Given the description of an element on the screen output the (x, y) to click on. 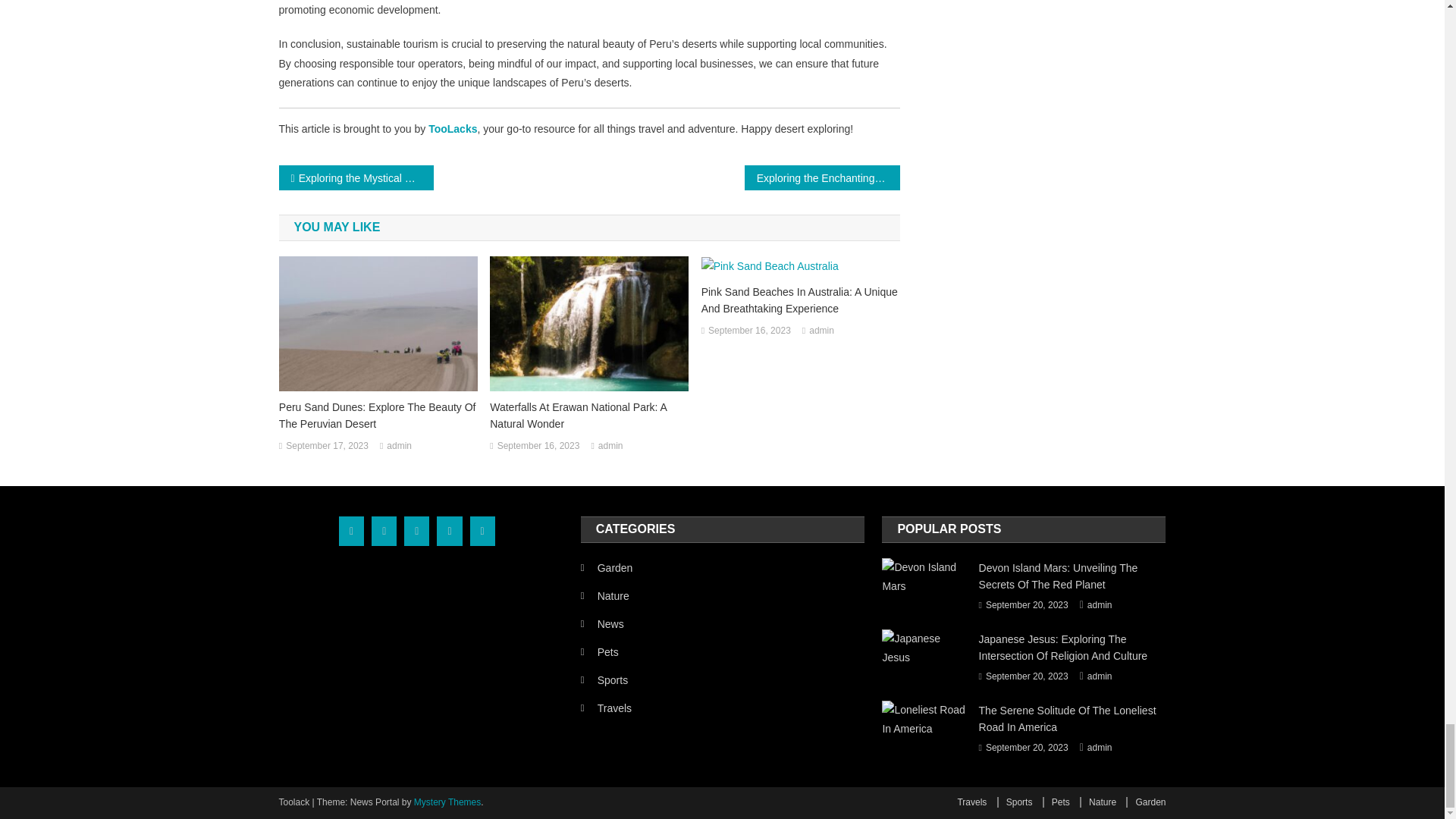
September 17, 2023 (326, 446)
Exploring the Mystical Chestnut Ridge Eternal Flame (356, 177)
Exploring the Enchanting Green Sands Oasis in Hawaii (821, 177)
September 16, 2023 (748, 330)
admin (399, 446)
Waterfalls At Erawan National Park: A Natural Wonder (588, 415)
TooLacks (452, 128)
Peru Sand Dunes: Explore The Beauty Of The Peruvian Desert (378, 415)
admin (610, 446)
admin (821, 330)
September 16, 2023 (538, 446)
